Given the description of an element on the screen output the (x, y) to click on. 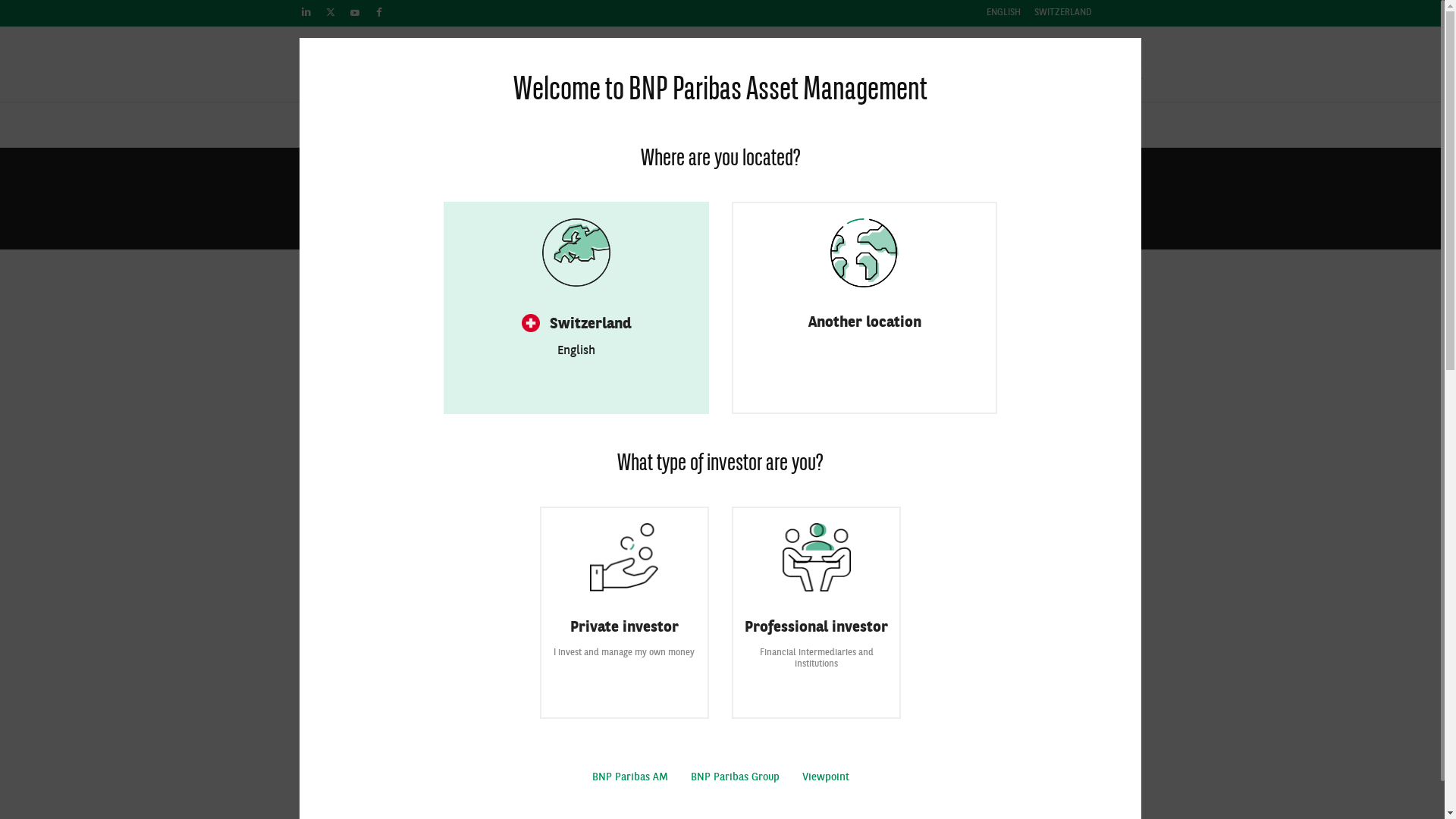
INSIGHTS Element type: text (899, 126)
BNP Paribas AM Element type: text (629, 776)
THEMES Element type: text (786, 126)
STRATEGIES Element type: text (669, 126)
BNP Paribas Group Element type: text (734, 776)
CAPABILITIES Element type: text (541, 126)
Viewpoint Element type: text (825, 776)
ENGLISH Element type: text (1002, 16)
Private investor
I invest and manage my own money Element type: text (624, 612)
SWITZERLAND Element type: text (1063, 16)
ABOUT US Element type: text (1015, 126)
FUNDS Element type: text (424, 126)
